Given the description of an element on the screen output the (x, y) to click on. 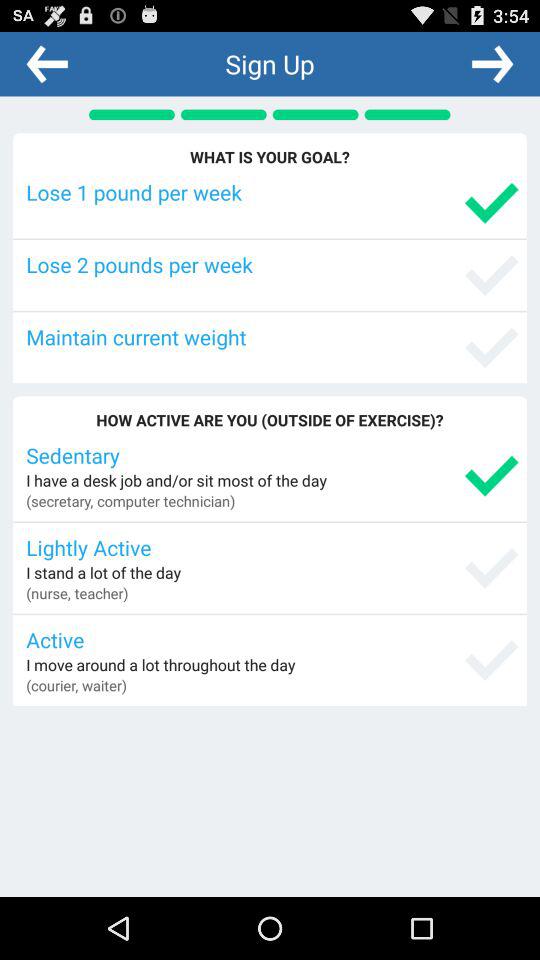
click item next to sign up icon (492, 63)
